Given the description of an element on the screen output the (x, y) to click on. 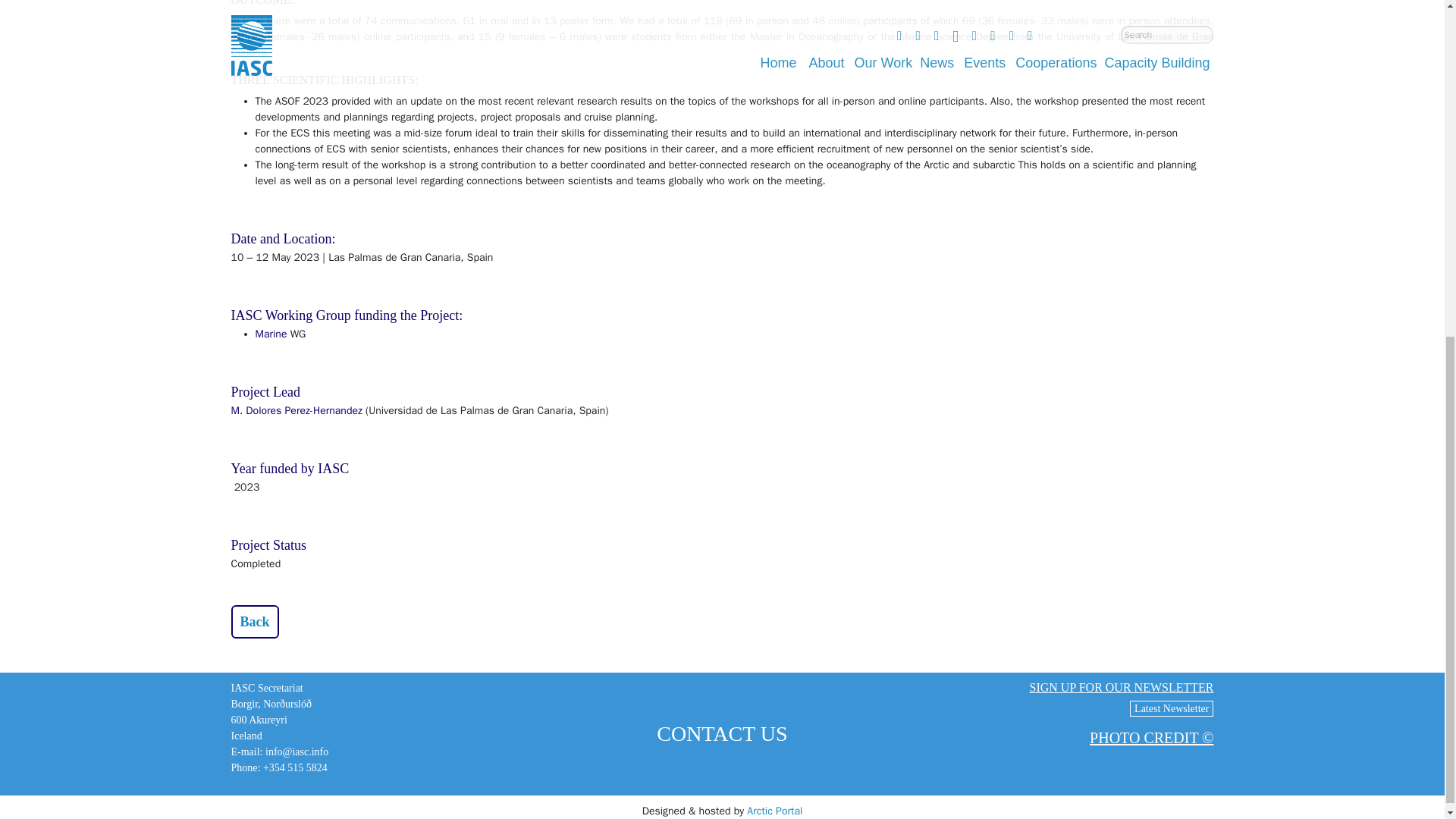
Arctic Portal (774, 810)
Newsletter sign up (1120, 686)
Photo Credit (1150, 737)
IASC Newsletter (1170, 708)
Publications (254, 621)
